Given the description of an element on the screen output the (x, y) to click on. 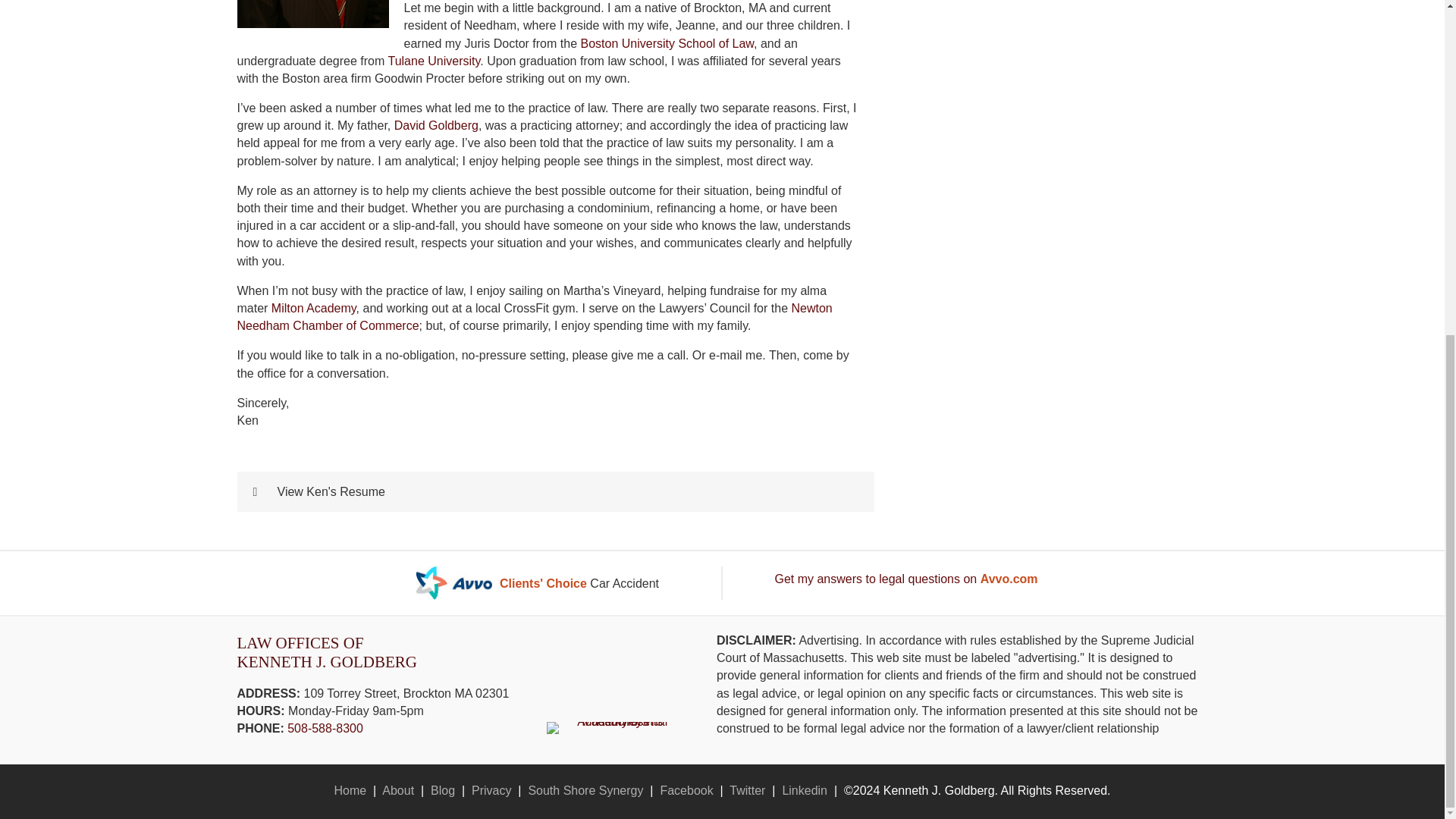
508-588-8300 (324, 727)
Facebook (686, 789)
2023-MATA-Member-Badge (616, 727)
David Goldberg (436, 124)
Boston University School of Law (666, 42)
Twitter (747, 789)
Avvo-Logo-Sm (454, 582)
South Shore Synergy (585, 789)
Get my answers to legal questions on Avvo.com (905, 578)
Blog (442, 789)
